Given the description of an element on the screen output the (x, y) to click on. 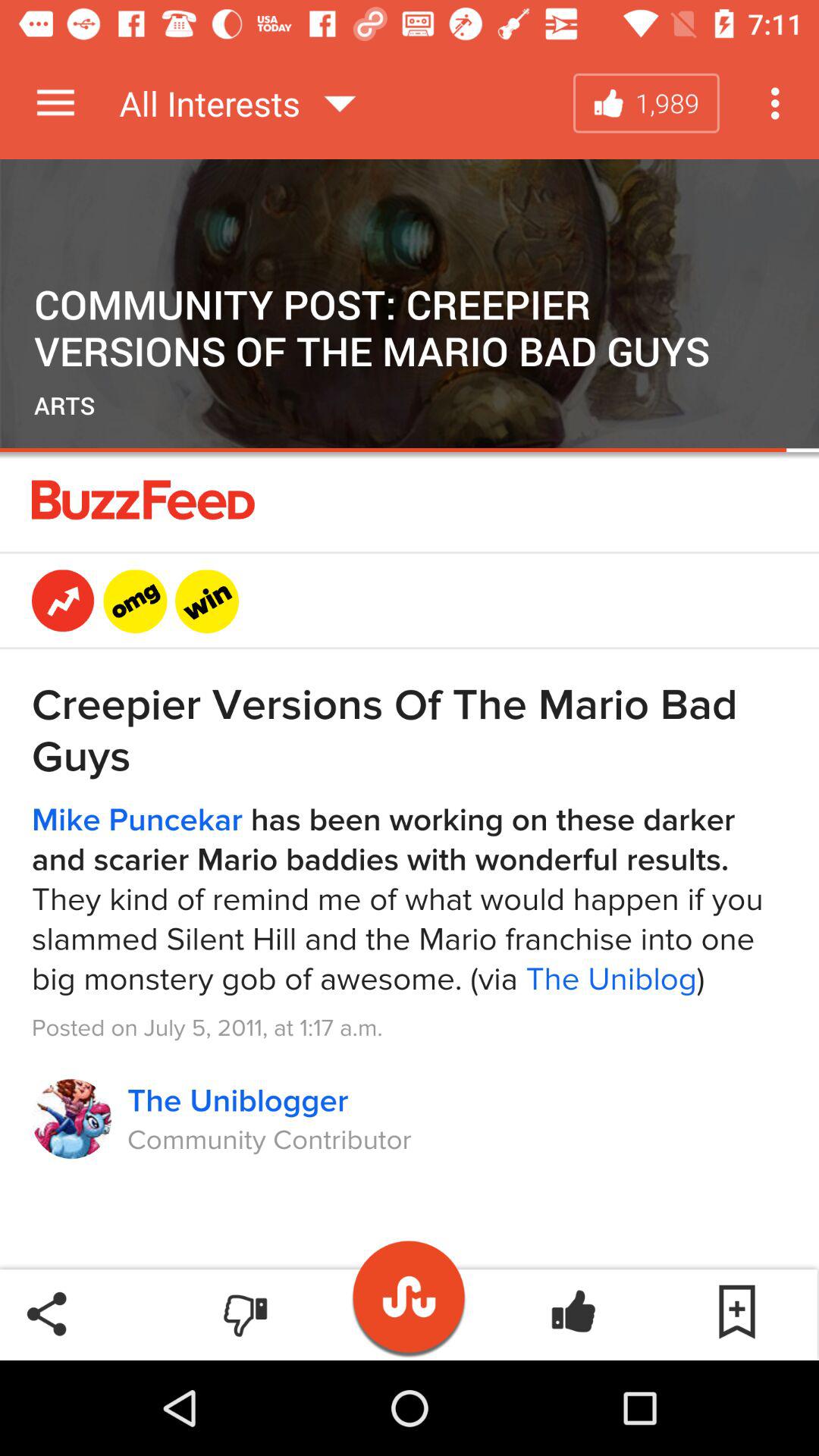
musically (409, 1288)
